Given the description of an element on the screen output the (x, y) to click on. 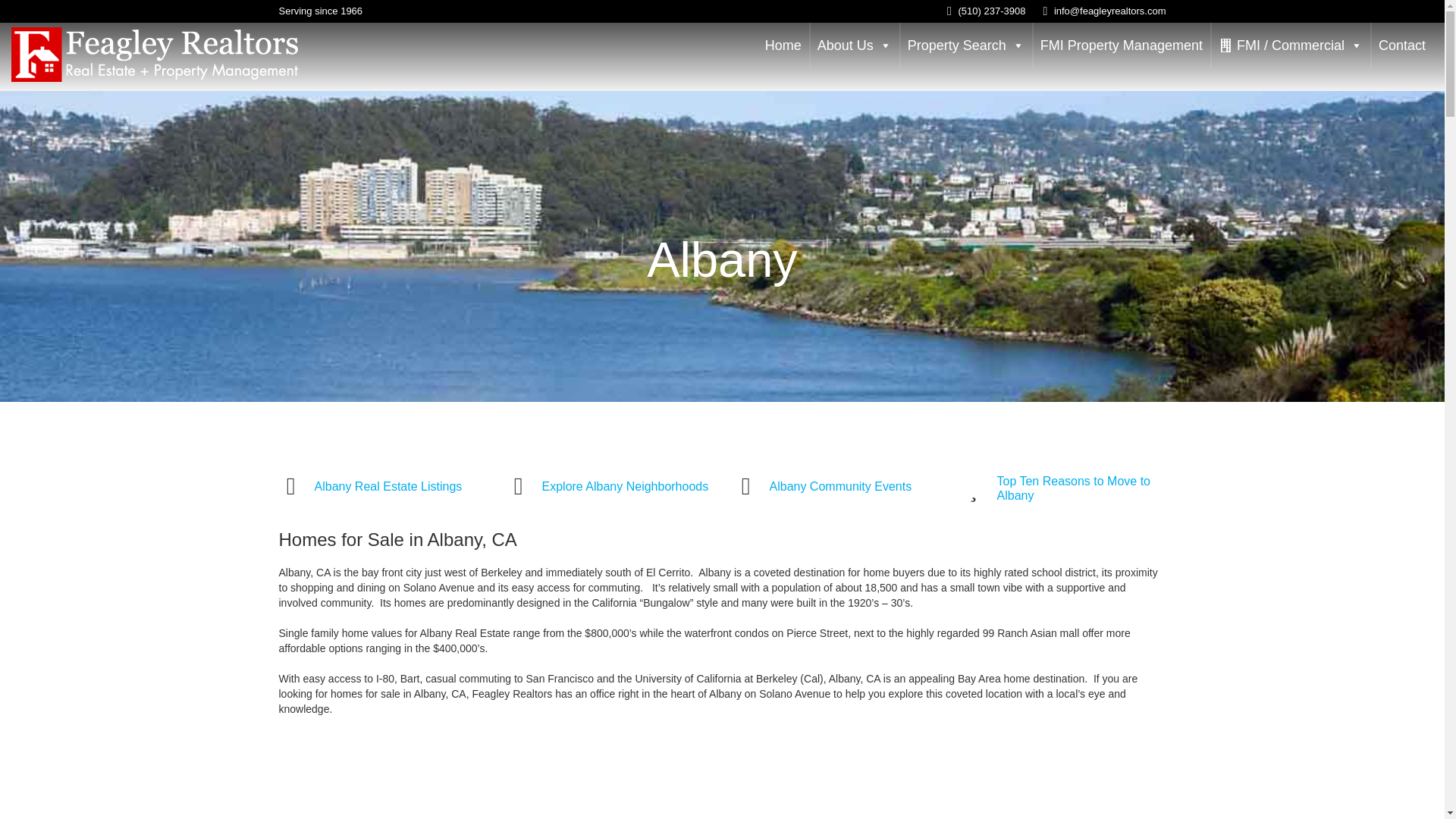
Home (783, 44)
About Us (854, 44)
Property Search (965, 44)
FMI Property Management (1120, 44)
